Given the description of an element on the screen output the (x, y) to click on. 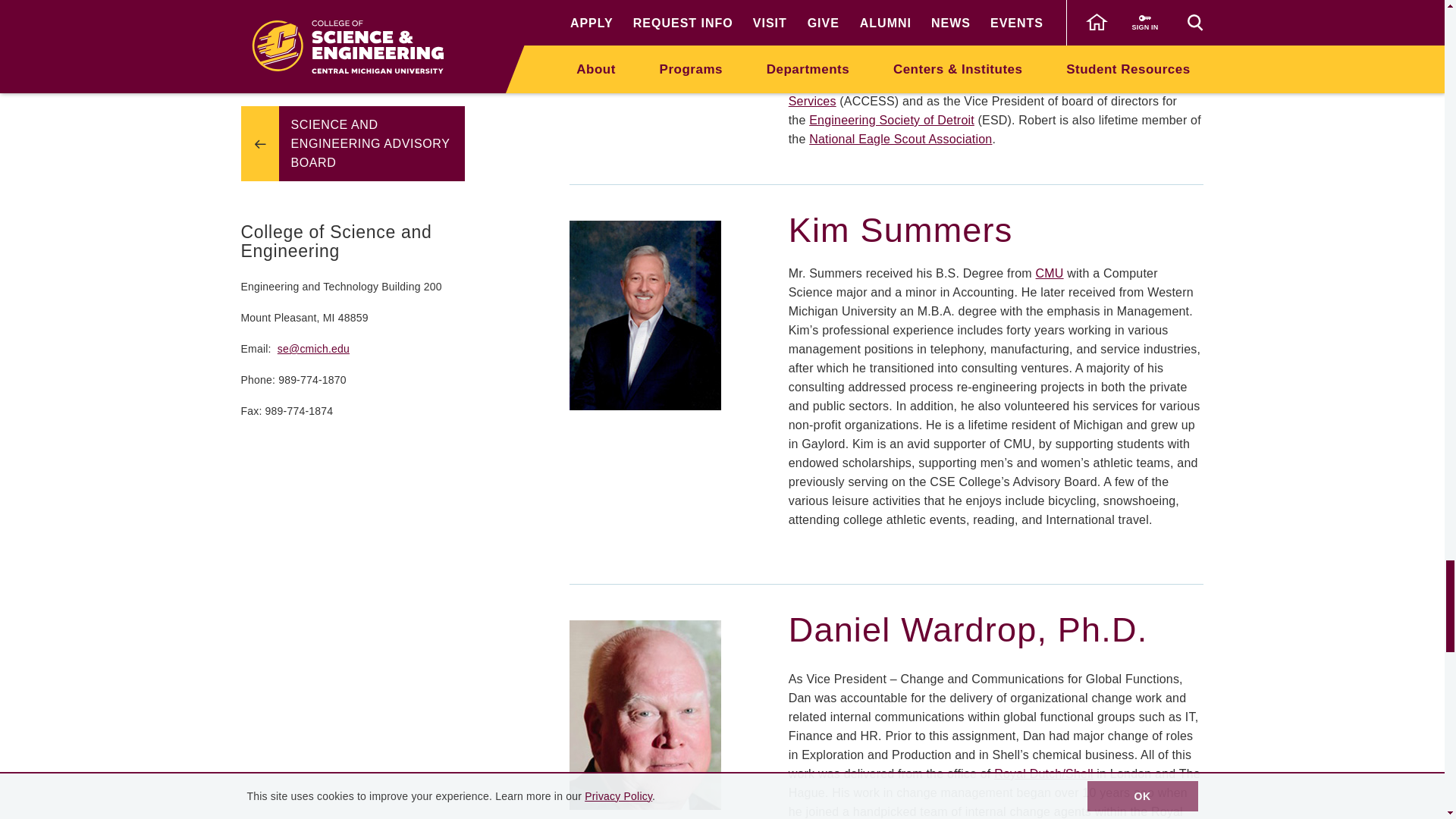
Arab Community Center for Economic and Social Services (941, 91)
Engineering Society of Detroit (891, 119)
